Given the description of an element on the screen output the (x, y) to click on. 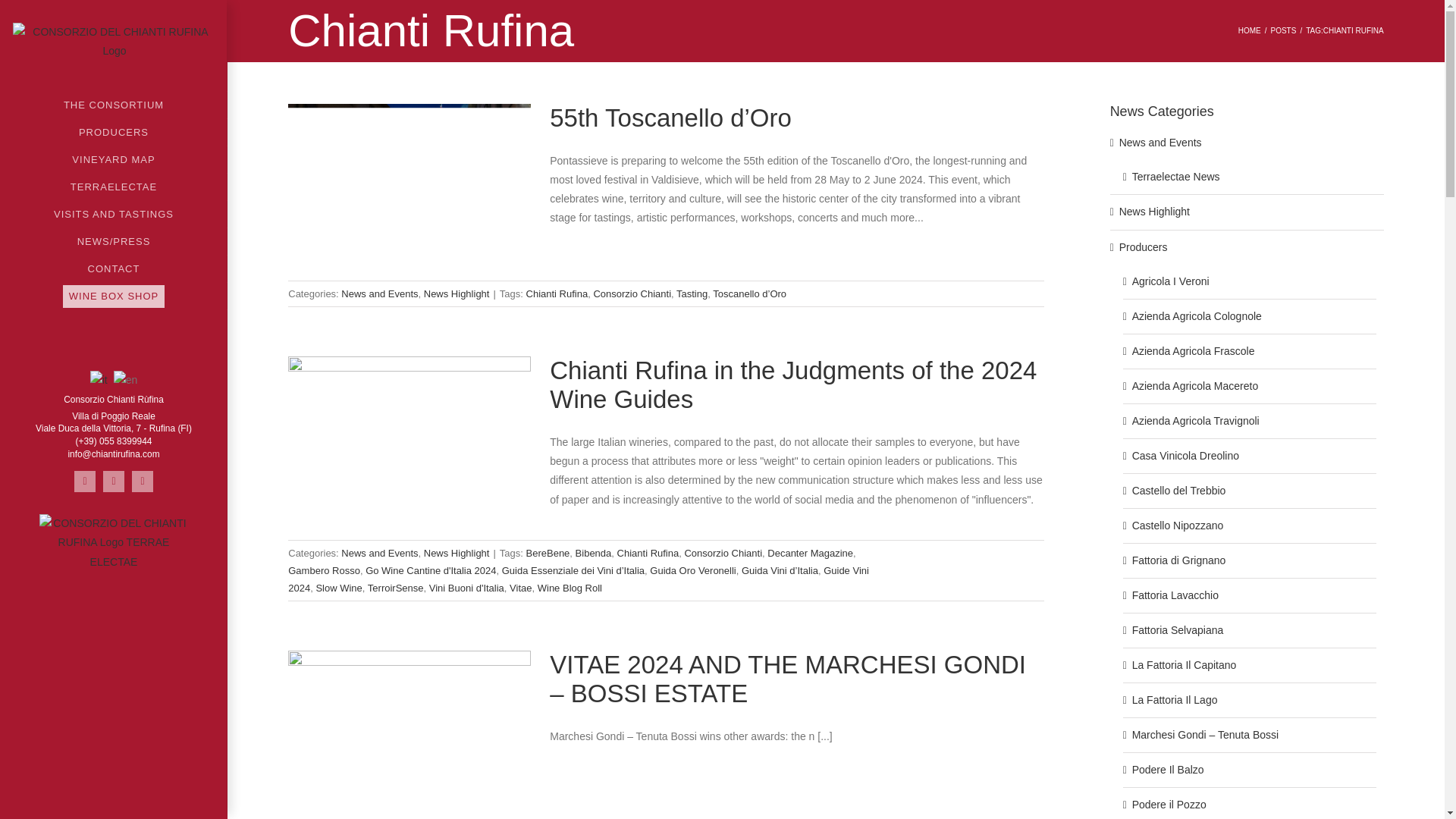
VINEYARD MAP (113, 159)
POSTS (1282, 30)
News and Events (378, 293)
HOME (1249, 30)
Chianti Rufina (556, 293)
YouTube (142, 481)
TERRAELECTAE (113, 186)
Instagram (113, 481)
News Highlight (456, 293)
Consorzio Chianti (631, 293)
